Given the description of an element on the screen output the (x, y) to click on. 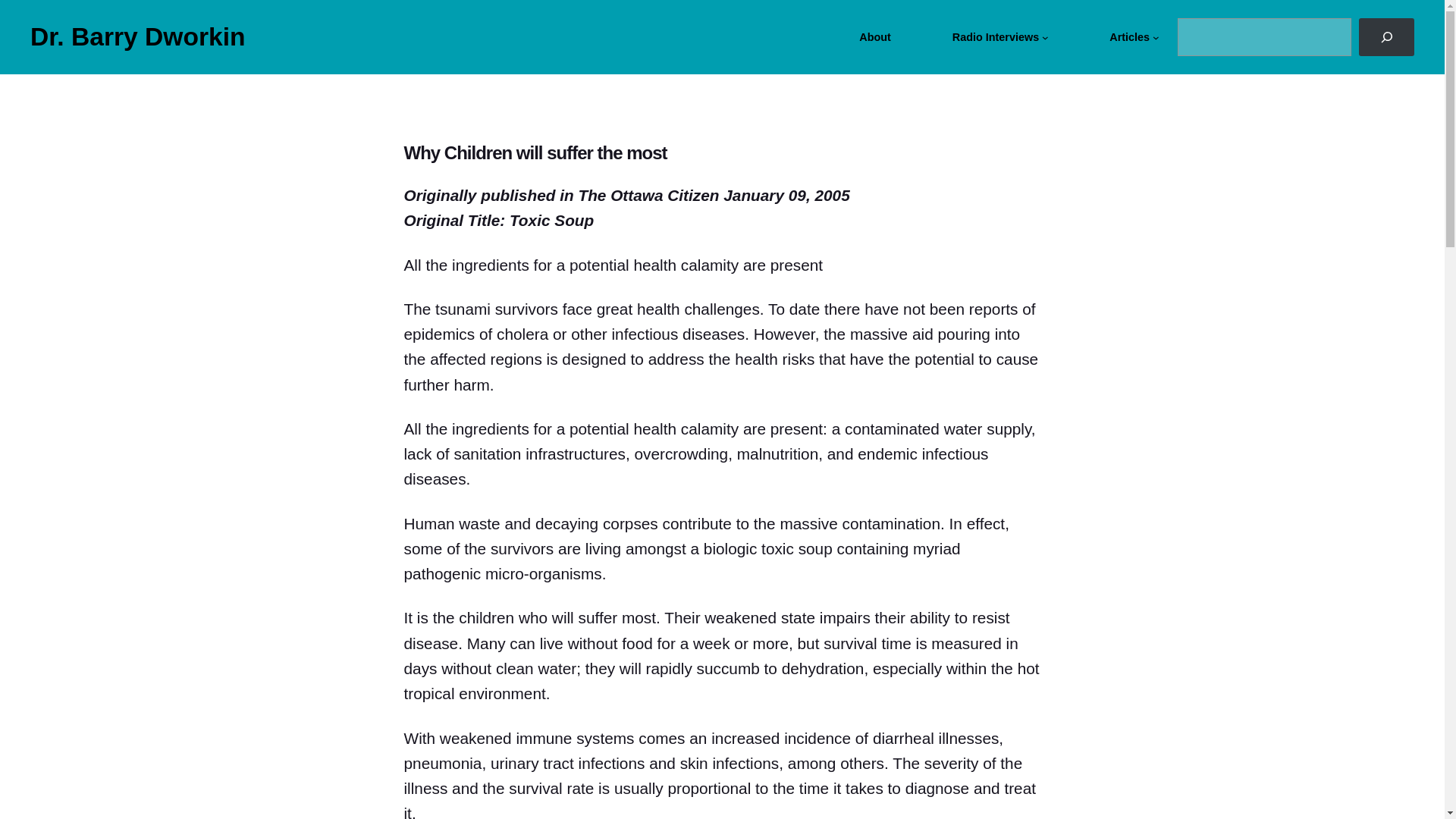
Dr. Barry Dworkin (138, 36)
Articles (1129, 36)
Radio Interviews (995, 36)
About (875, 36)
